Given the description of an element on the screen output the (x, y) to click on. 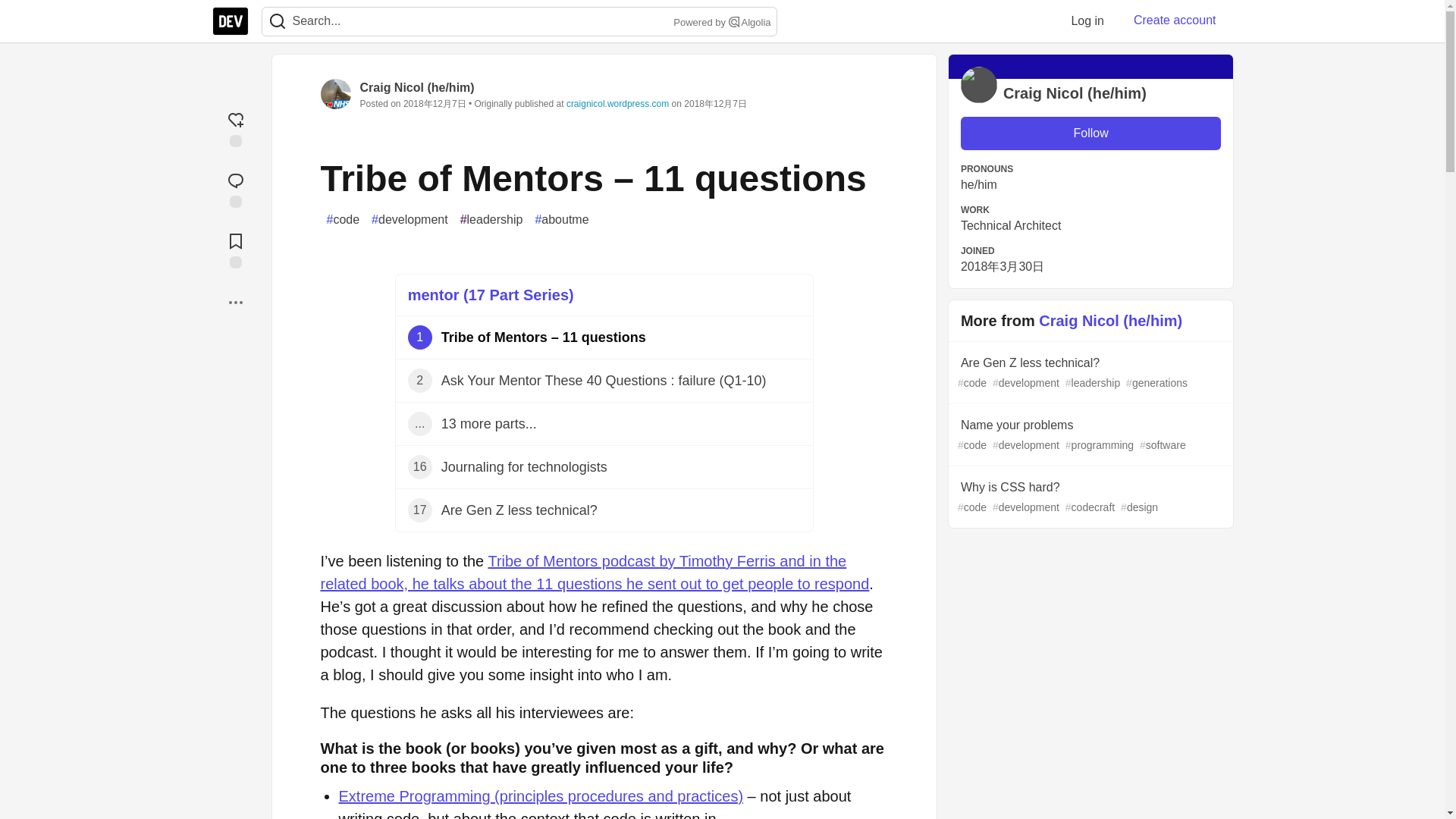
Log in (1087, 20)
Published Jan 6 '23 (604, 466)
Search (734, 21)
Search (277, 21)
More... (234, 302)
Search (276, 21)
Powered by Search Algolia (720, 22)
Published Jan 12 '21 (604, 380)
More... (234, 302)
View more (604, 423)
Published Dec 7 '18 (604, 337)
Create account (1174, 20)
craignicol.wordpress.com (604, 423)
